Given the description of an element on the screen output the (x, y) to click on. 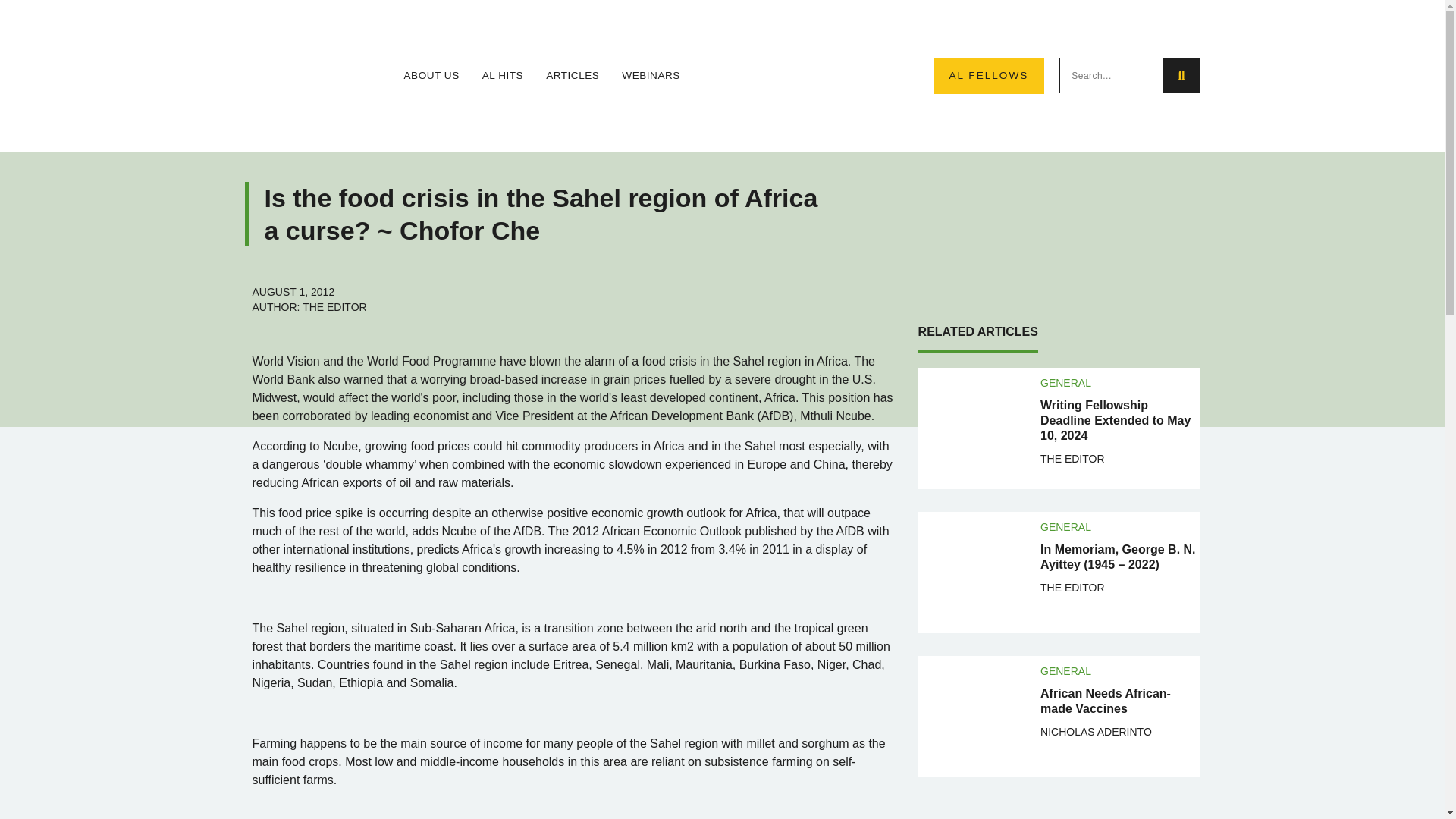
ARTICLES (572, 75)
GENERAL (1065, 382)
WEBINARS (650, 75)
AUGUST 1, 2012 (292, 291)
AUTHOR: THE EDITOR (308, 306)
AL HITS (501, 75)
AL FELLOWS (988, 75)
ABOUT US (430, 75)
